Given the description of an element on the screen output the (x, y) to click on. 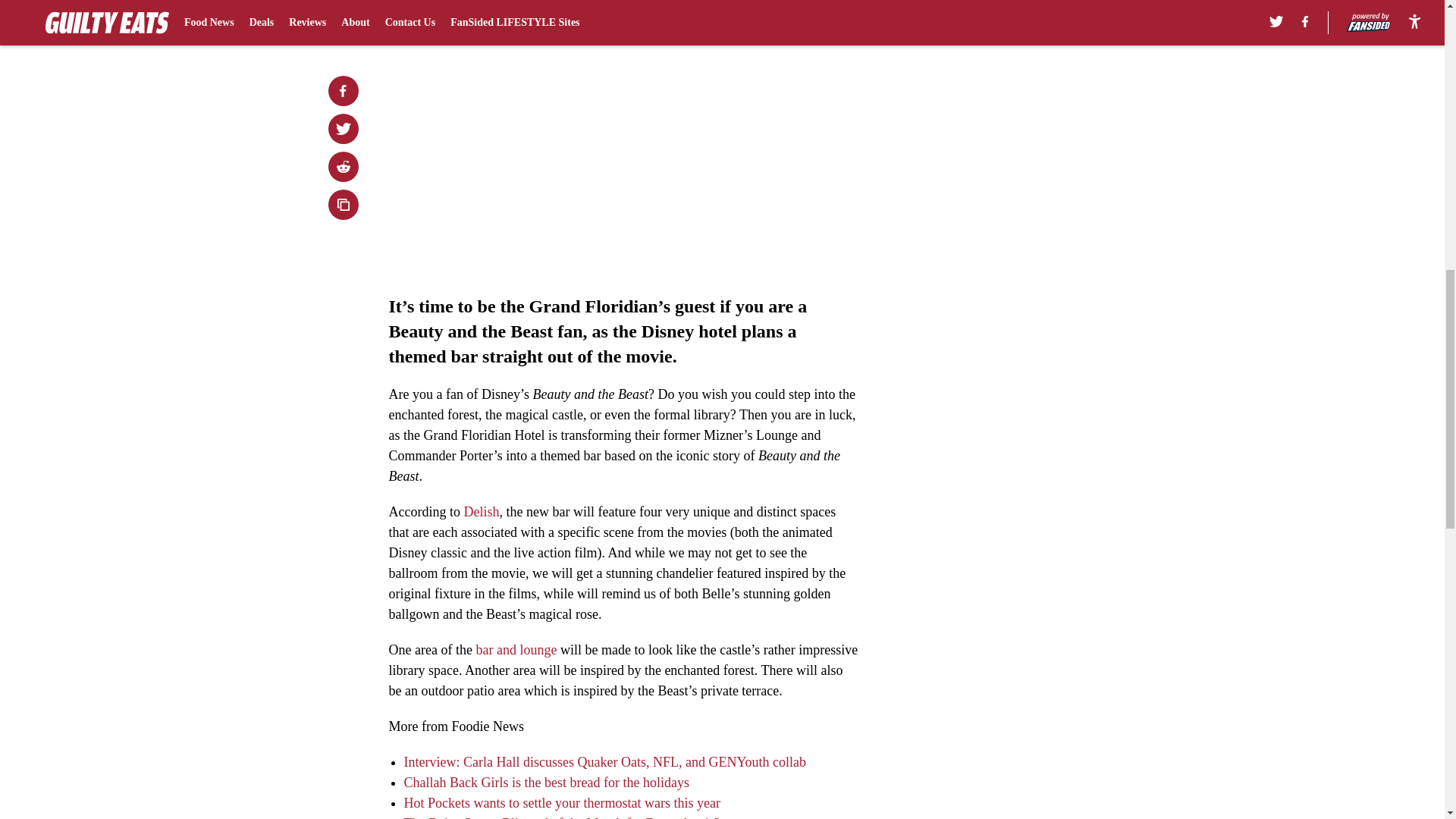
bar and lounge (516, 649)
Delish (481, 511)
Challah Back Girls is the best bread for the holidays (545, 782)
Hot Pockets wants to settle your thermostat wars this year (561, 802)
